Given the description of an element on the screen output the (x, y) to click on. 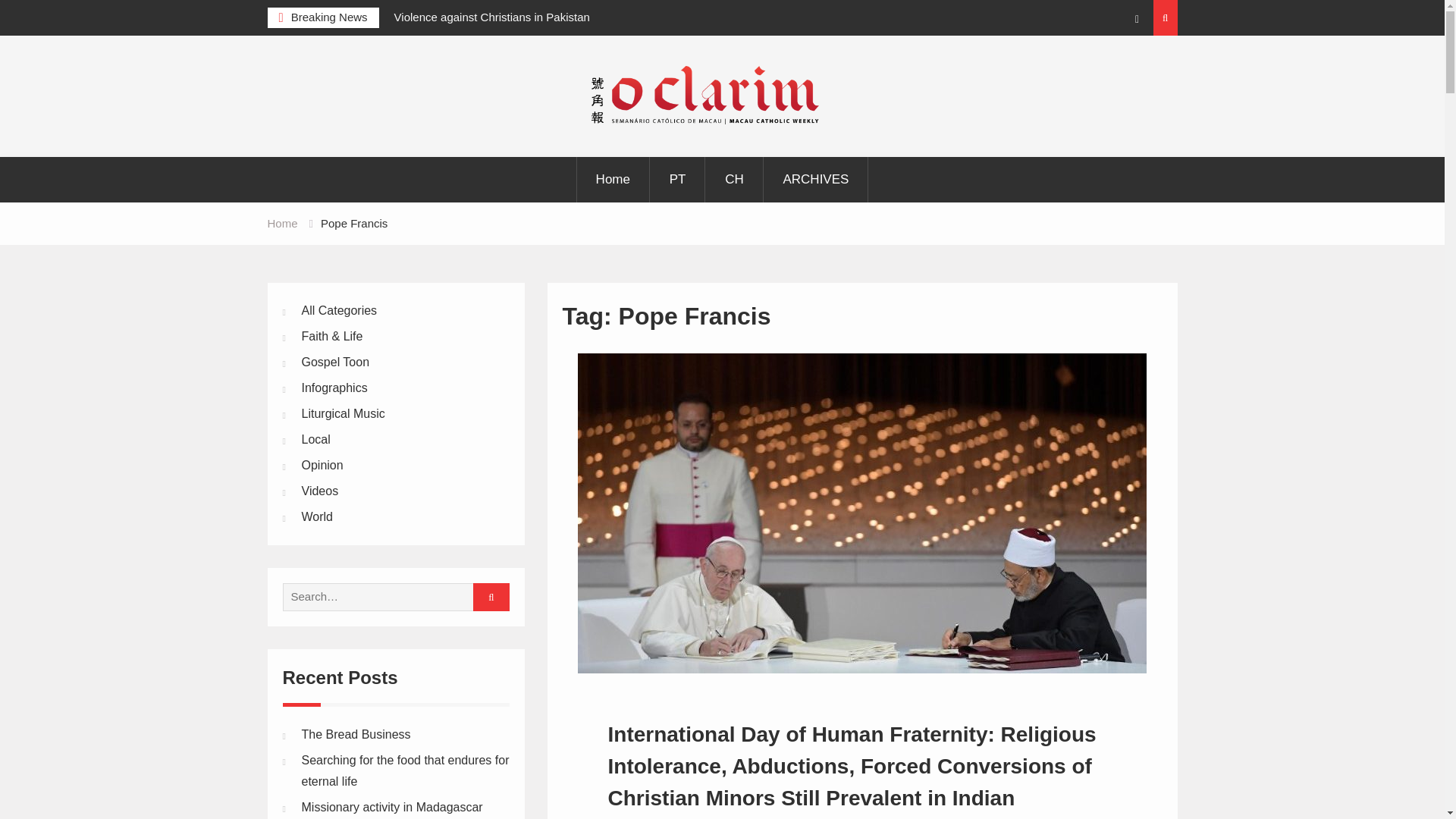
ARCHIVES (814, 179)
CH (734, 179)
Home (612, 179)
PT (678, 179)
Search for: (389, 596)
Home (281, 223)
Violence against Christians in Pakistan (491, 17)
